Given the description of an element on the screen output the (x, y) to click on. 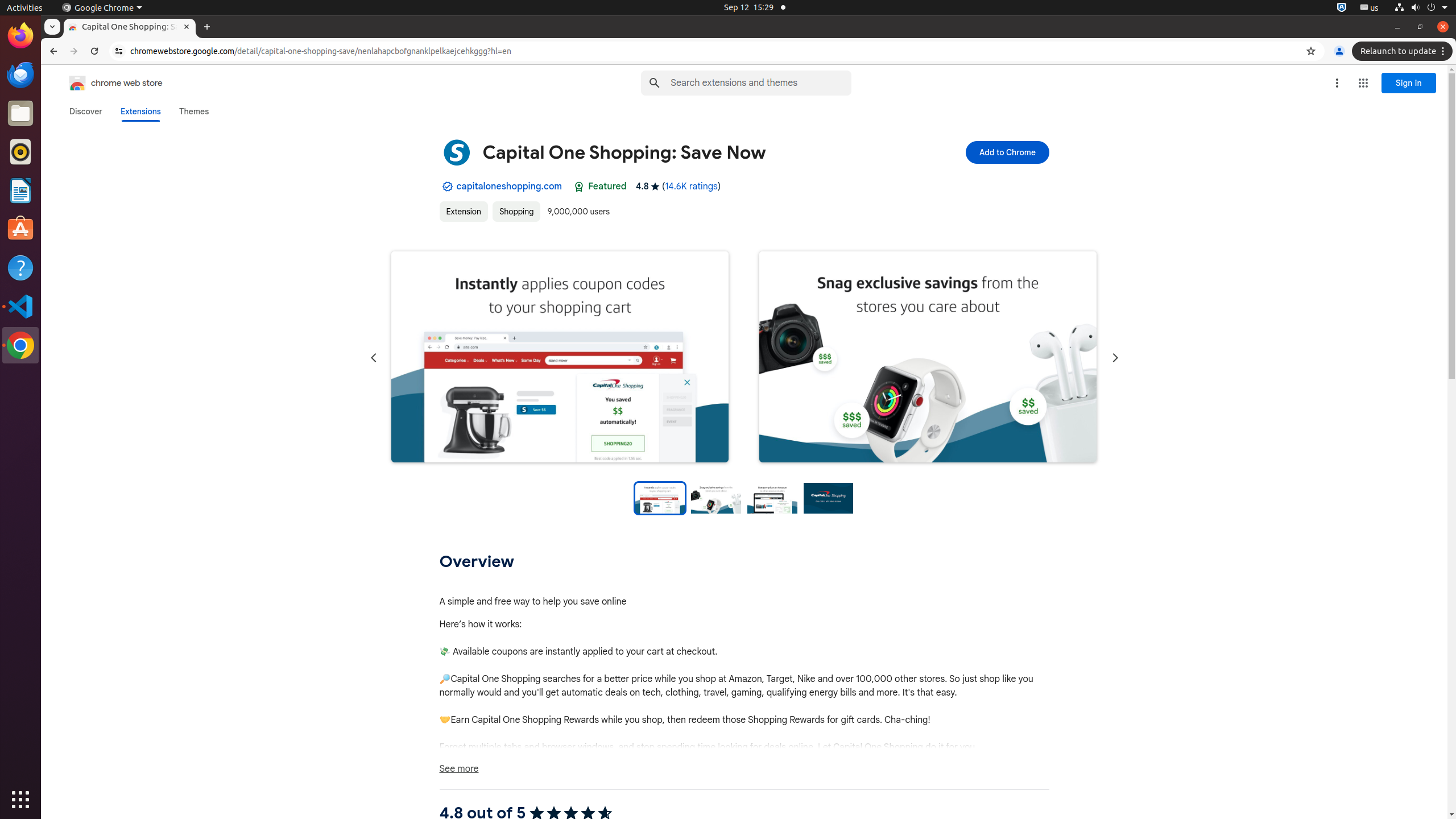
Preview slide 2 Element type: push-button (716, 498)
14.6K ratings Element type: link (690, 186)
More options menu Element type: push-button (1336, 82)
Extension Element type: link (463, 211)
:1.21/StatusNotifierItem Element type: menu (1369, 7)
